Given the description of an element on the screen output the (x, y) to click on. 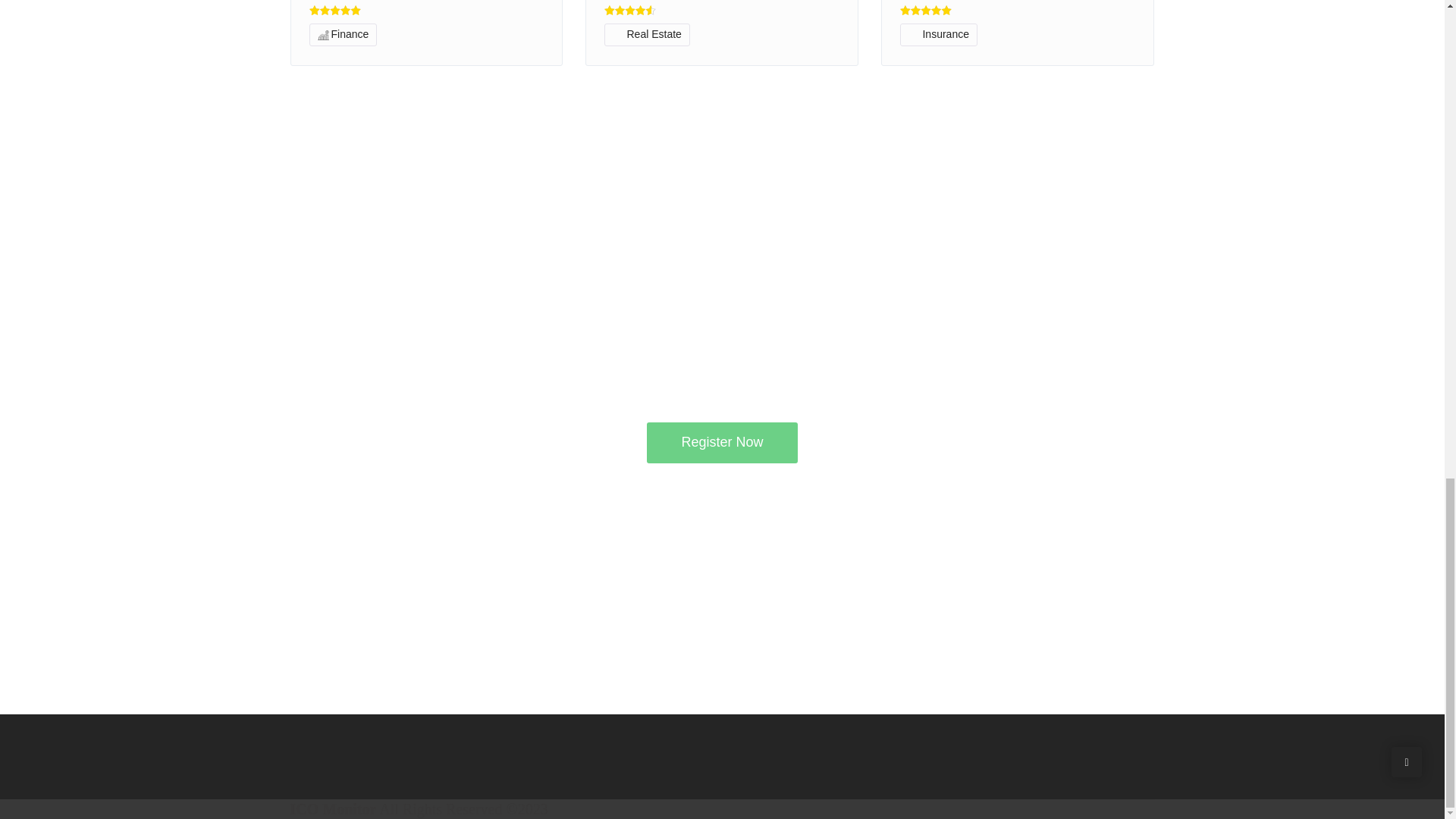
Register Now (721, 442)
